Given the description of an element on the screen output the (x, y) to click on. 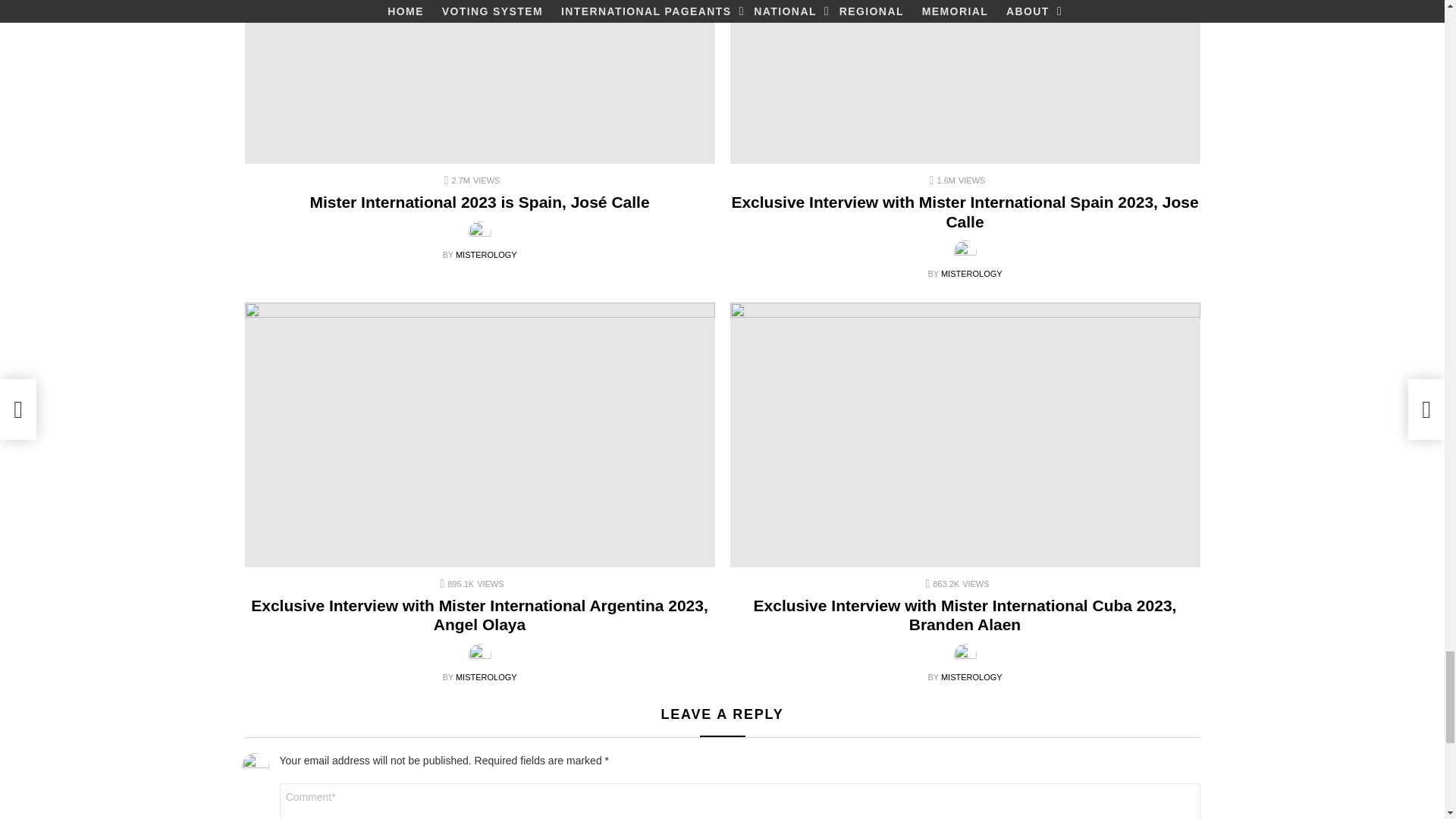
Posts by misterology (971, 273)
Posts by misterology (485, 254)
Posts by misterology (485, 676)
Posts by misterology (971, 676)
